Given the description of an element on the screen output the (x, y) to click on. 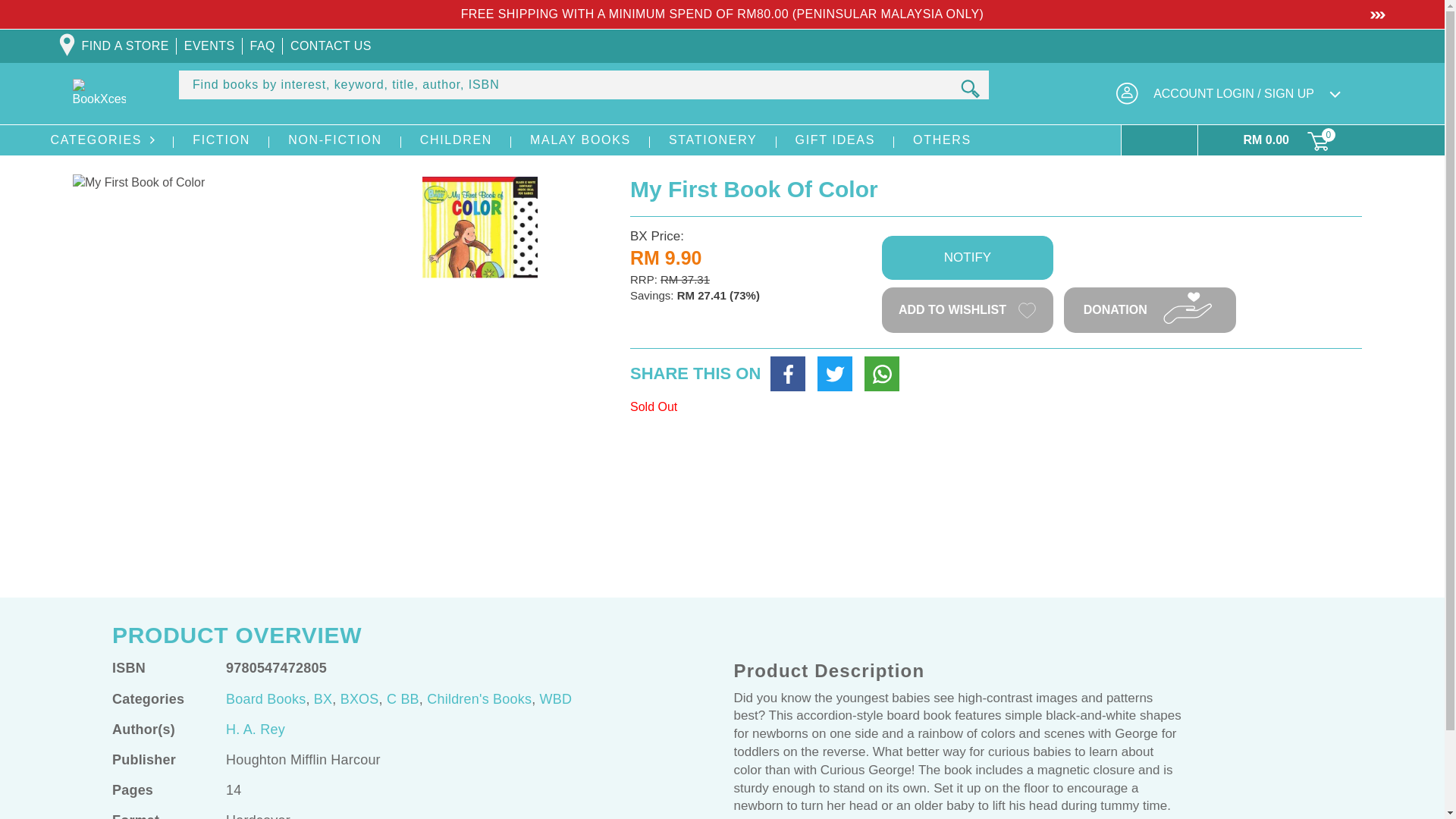
Tweet on Twitter (833, 373)
Skip to content (45, 16)
EVENTS (209, 45)
CONTACT US (330, 45)
FAQ (262, 45)
Share on Facebook (787, 373)
